Given the description of an element on the screen output the (x, y) to click on. 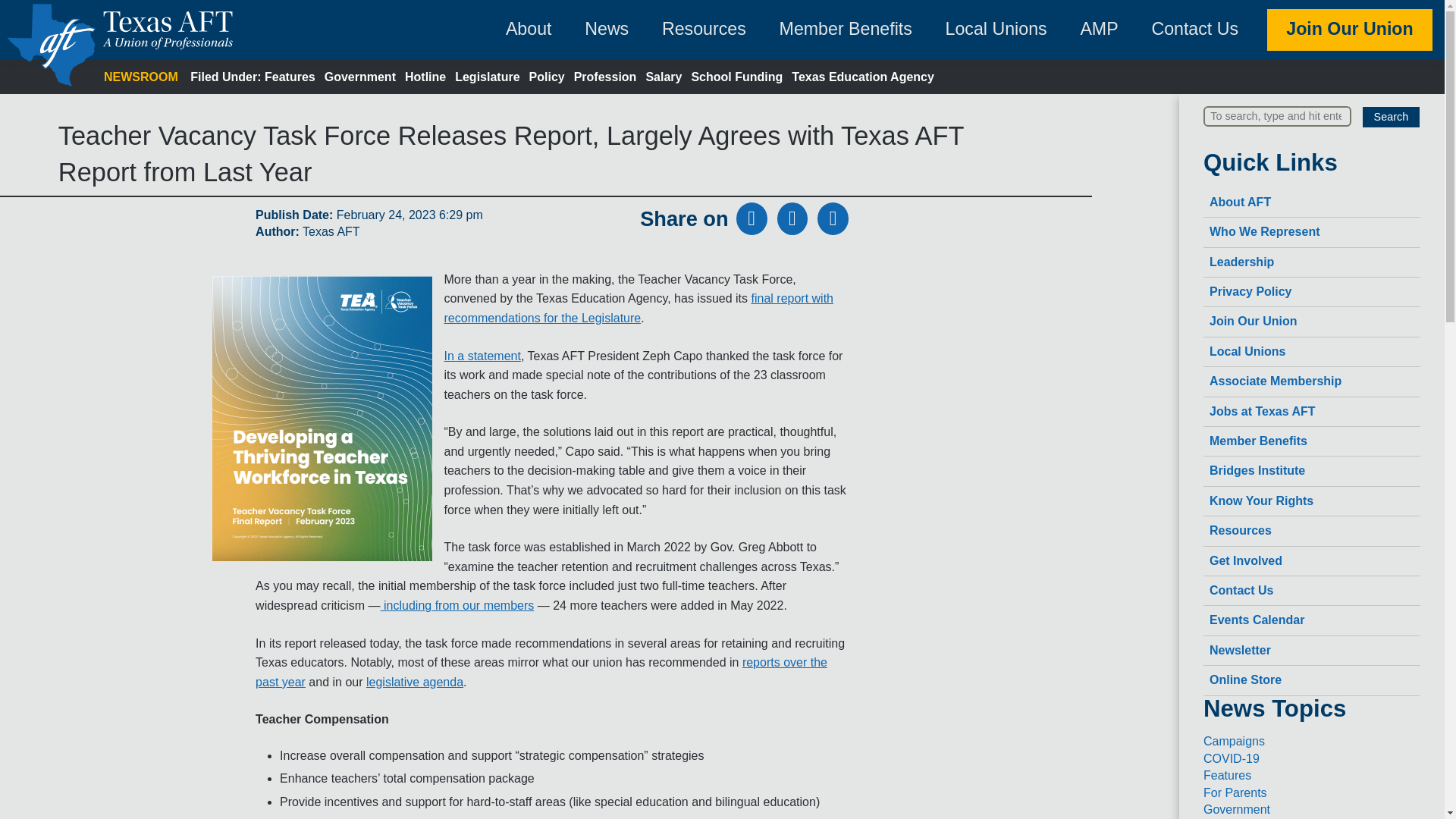
Online Store (1312, 680)
Profession (605, 76)
Bridges Institute (1312, 471)
AMP (1098, 29)
Campaigns (1234, 740)
NEWSROOM (140, 76)
Contact Us (1312, 591)
Resources (703, 29)
COVID-19 (1231, 758)
Resources (1312, 531)
Member Benefits (1312, 441)
Local Unions (1312, 351)
Privacy Policy (1312, 292)
About AFT (1312, 202)
Contact Us (1195, 29)
